Given the description of an element on the screen output the (x, y) to click on. 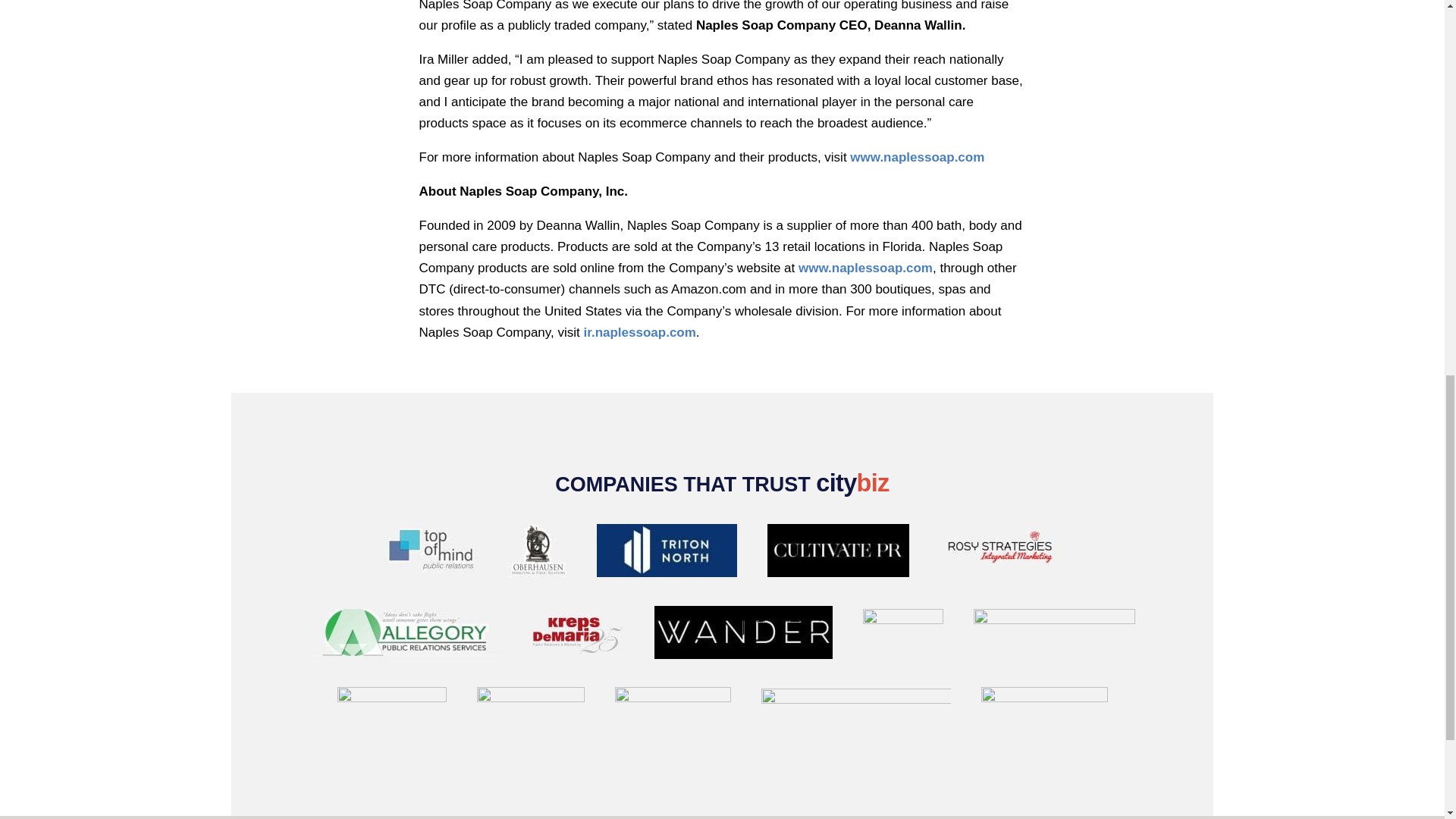
Wander PR (742, 635)
Allegory PR Services (403, 635)
Cultivate PR (838, 553)
Triton North (665, 553)
Top of Mind PR (431, 553)
LEFT Communication (903, 635)
Rosy Strategies (999, 553)
